Given the description of an element on the screen output the (x, y) to click on. 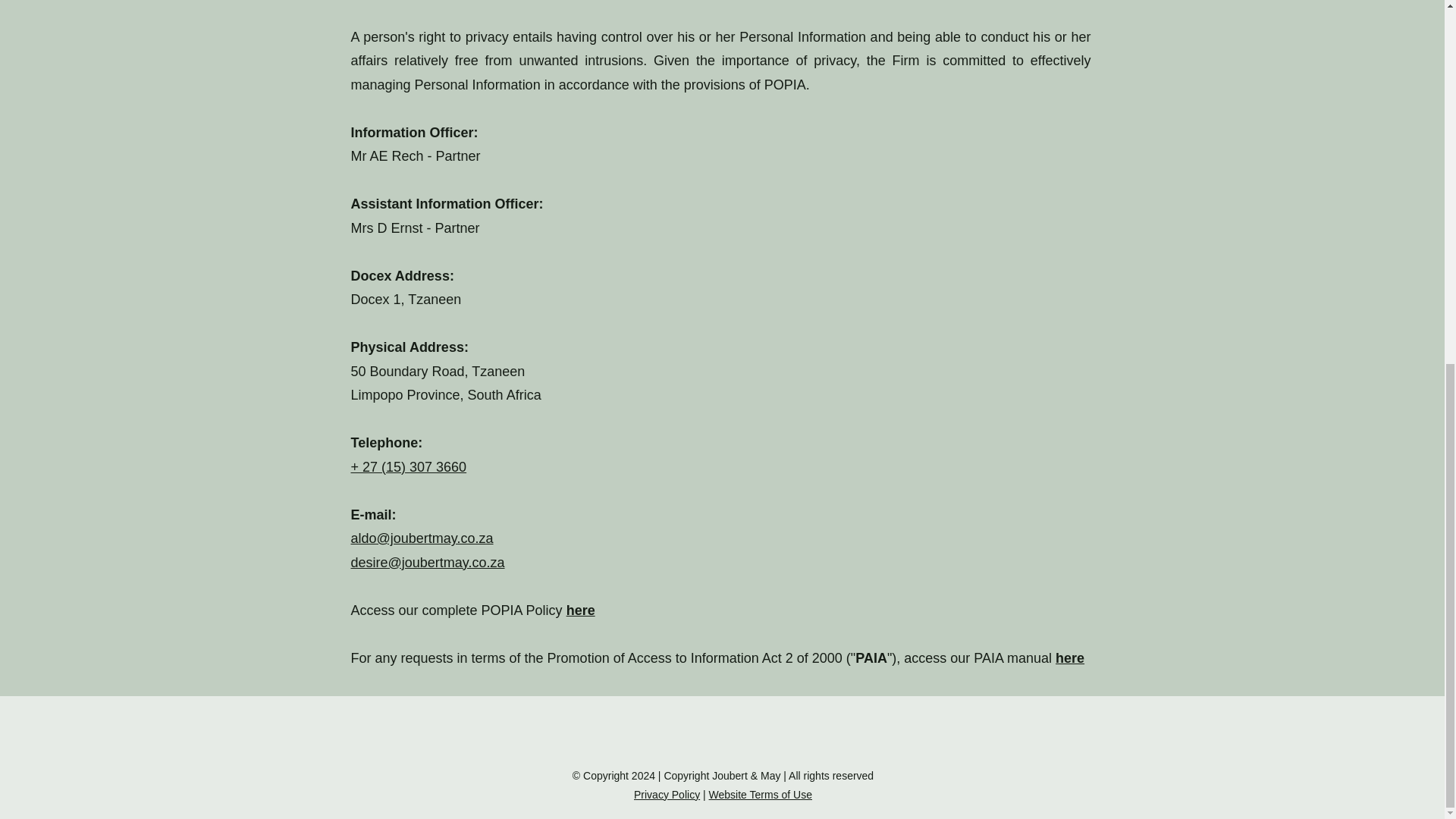
Privacy Policy (666, 794)
here (1069, 657)
here (580, 610)
Website Terms of Use (760, 794)
